Given the description of an element on the screen output the (x, y) to click on. 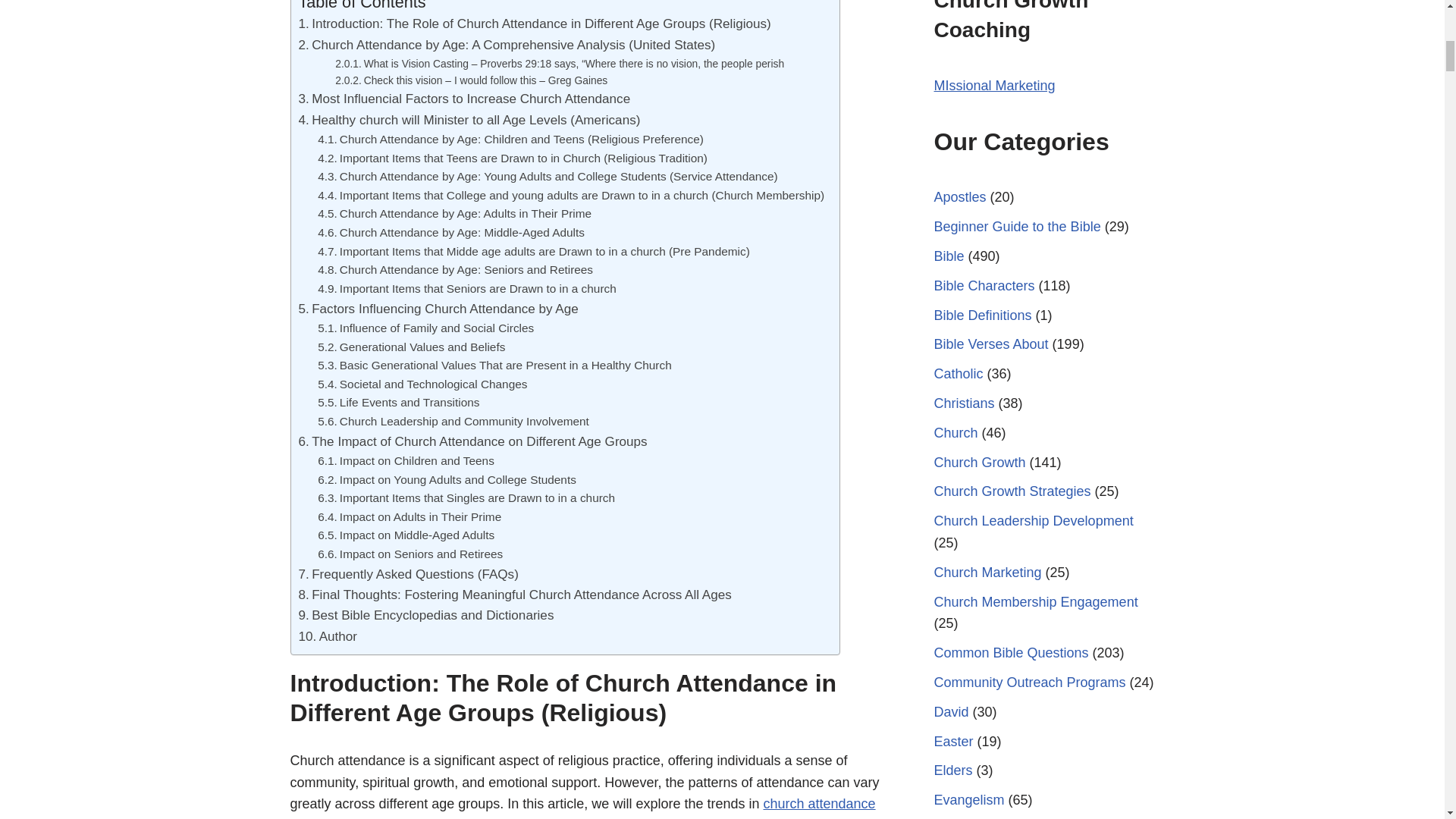
Church Attendance by Age: Adults in Their Prime (454, 213)
Church Attendance by Age: Seniors and Retirees (454, 270)
Church Attendance by Age: Middle-Aged Adults (451, 232)
Important Items that Seniors are Drawn to in a church (466, 289)
Most Influencial Factors to Increase Church Attendance (464, 98)
